Given the description of an element on the screen output the (x, y) to click on. 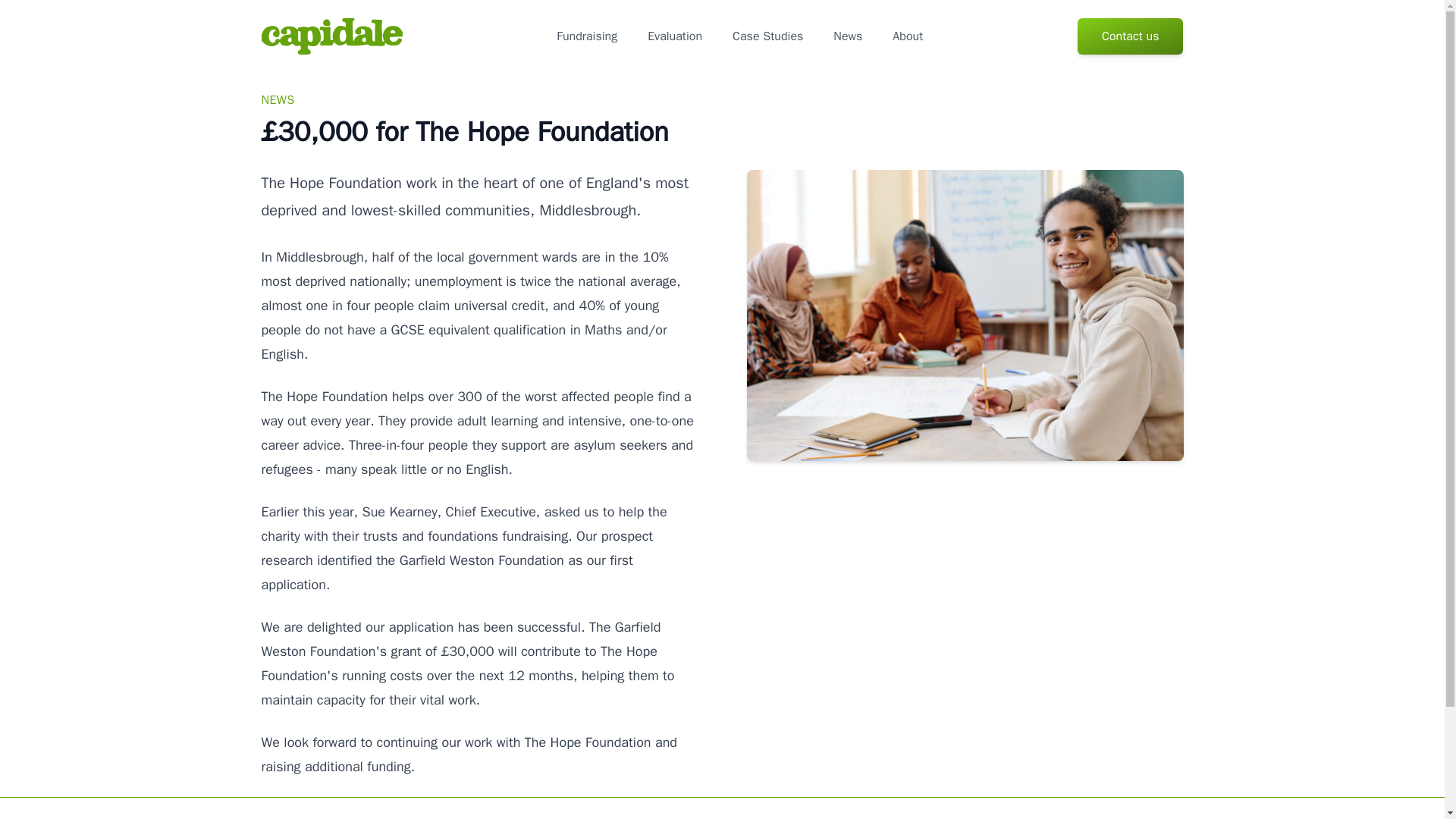
Evaluation (674, 36)
Fundraising (586, 36)
Contact us (1129, 36)
Case Studies (767, 36)
Capidale (330, 36)
News (846, 36)
About (907, 36)
